Given the description of an element on the screen output the (x, y) to click on. 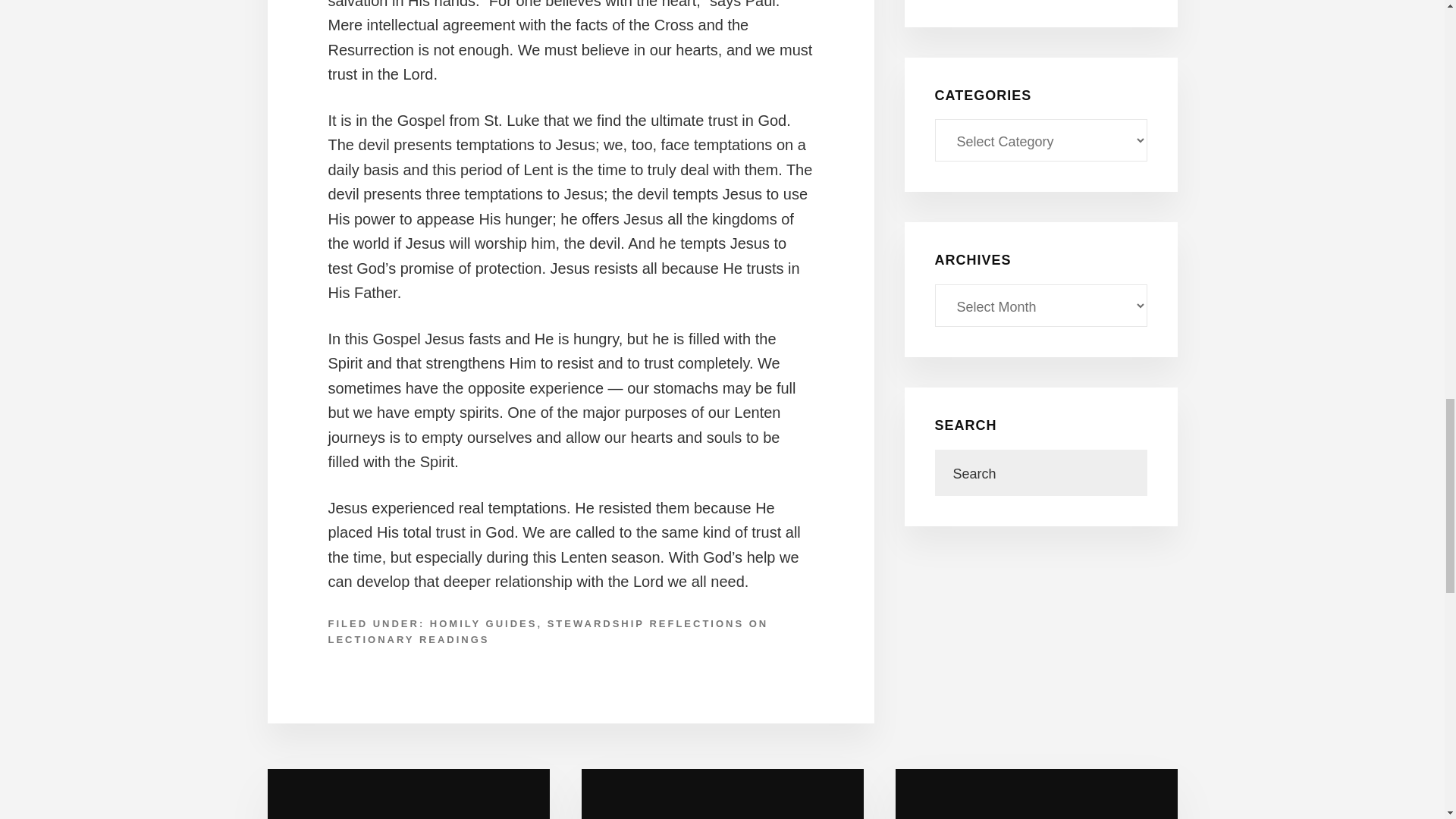
STEWARDSHIP REFLECTIONS ON LECTIONARY READINGS (547, 631)
HOMILY GUIDES (483, 623)
About Us (407, 794)
Stewardship Services (721, 794)
